Given the description of an element on the screen output the (x, y) to click on. 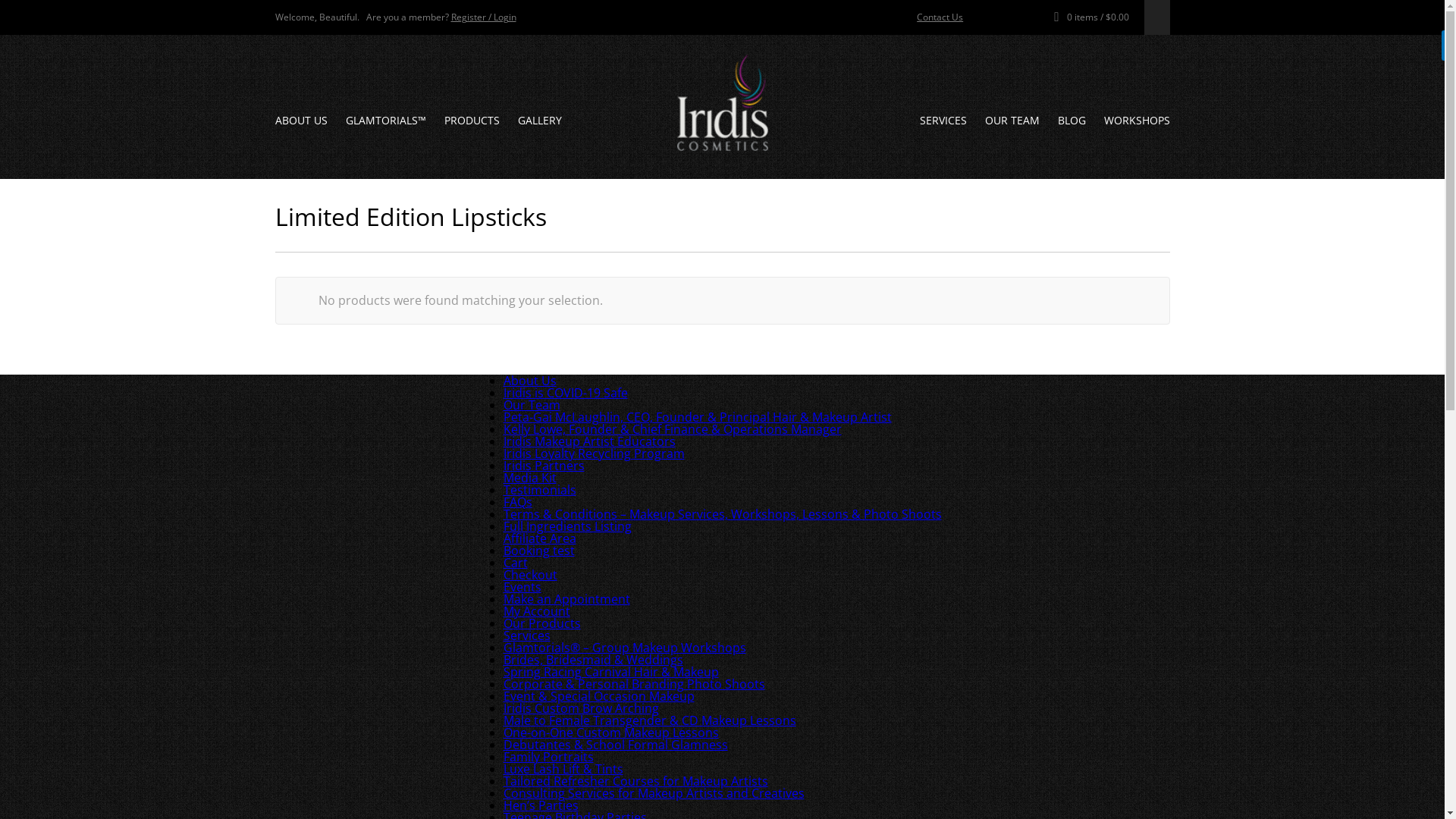
Tailored Refresher Courses for Makeup Artists Element type: text (635, 780)
WORKSHOPS Element type: text (1137, 119)
Our Team Element type: text (531, 404)
GALLERY Element type: text (539, 119)
Testimonials Element type: text (539, 489)
FAQs Element type: text (517, 501)
Make an Appointment Element type: text (566, 598)
My Account Element type: text (536, 610)
Checkout Element type: text (530, 574)
Consulting Services for Makeup Artists and Creatives Element type: text (653, 792)
Event & Special Occasion Makeup Element type: text (598, 695)
Luxe Lash Lift & Tints Element type: text (563, 768)
Iridis Loyalty Recycling Program Element type: text (593, 453)
Iridis Makeup Artist Educators Element type: text (589, 441)
Iridis Cosmetics Element type: text (721, 102)
PRODUCTS Element type: text (471, 119)
Iridis Custom Brow Arching Element type: text (580, 707)
Family Portraits Element type: text (548, 756)
SERVICES Element type: text (942, 119)
One-on-One Custom Makeup Lessons Element type: text (610, 732)
Services Element type: text (526, 635)
Register / Login Element type: text (482, 16)
Contact Us Element type: text (939, 16)
Iridis is COVID-19 Safe Element type: text (565, 392)
OUR TEAM Element type: text (1011, 119)
Affiliate Area Element type: text (539, 538)
Spring Racing Carnival Hair & Makeup Element type: text (610, 671)
Male to Female Transgender & CD Makeup Lessons Element type: text (649, 720)
Iridis Partners Element type: text (543, 465)
Brides, Bridesmaid & Weddings Element type: text (593, 659)
Corporate & Personal Branding Photo Shoots Element type: text (634, 683)
Our Products Element type: text (541, 623)
Kelly Lowe, Founder & Chief Finance & Operations Manager Element type: text (672, 428)
Booking test Element type: text (538, 550)
ABOUT US Element type: text (300, 119)
Media Kit Element type: text (529, 477)
Full Ingredients Listing Element type: text (567, 525)
Events Element type: text (522, 586)
Debutantes & School Formal Glamness Element type: text (615, 744)
Cart Element type: text (515, 562)
BLOG Element type: text (1071, 119)
About Us Element type: text (529, 380)
